Given the description of an element on the screen output the (x, y) to click on. 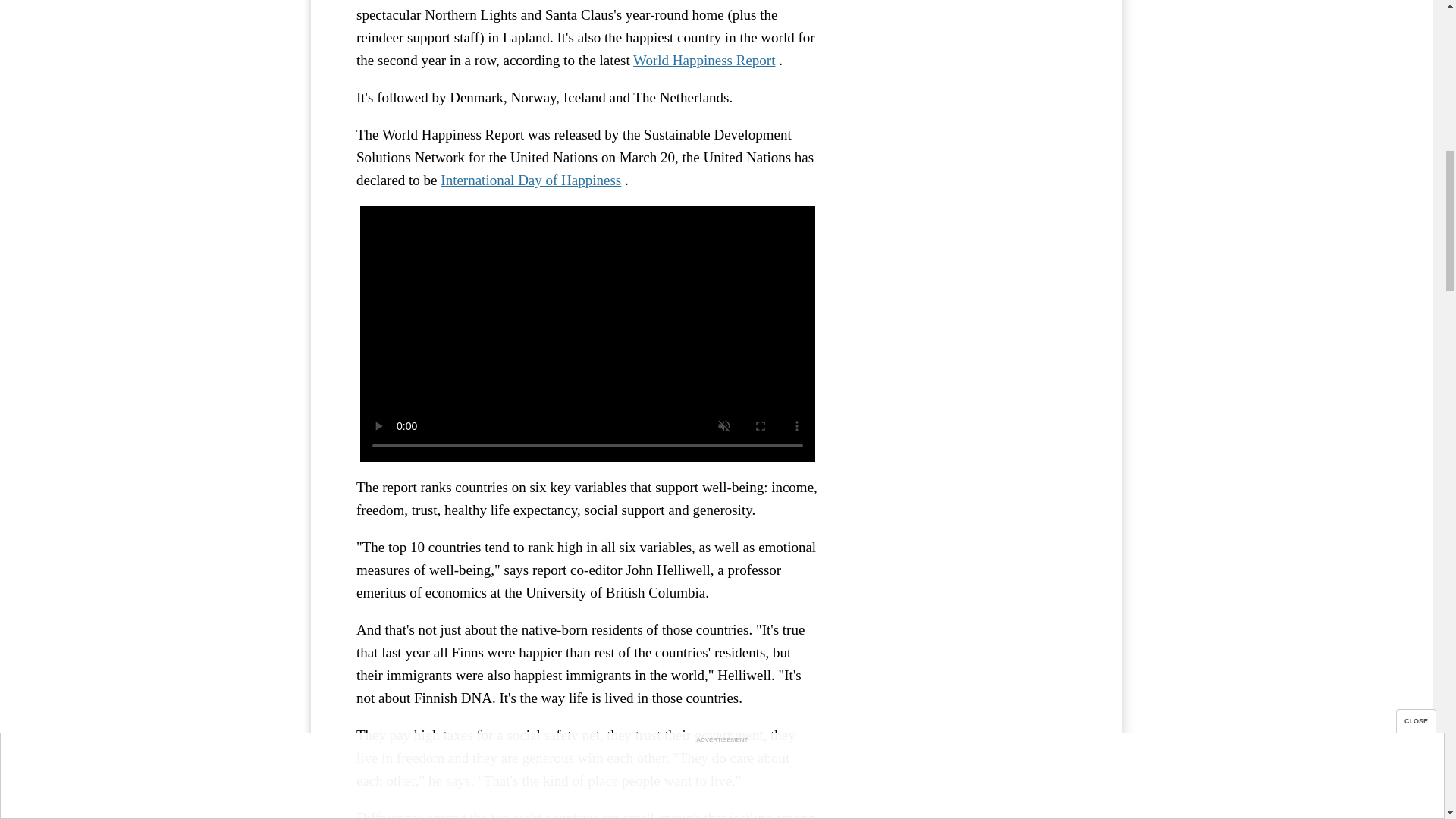
3rd party ad content (962, 31)
